Given the description of an element on the screen output the (x, y) to click on. 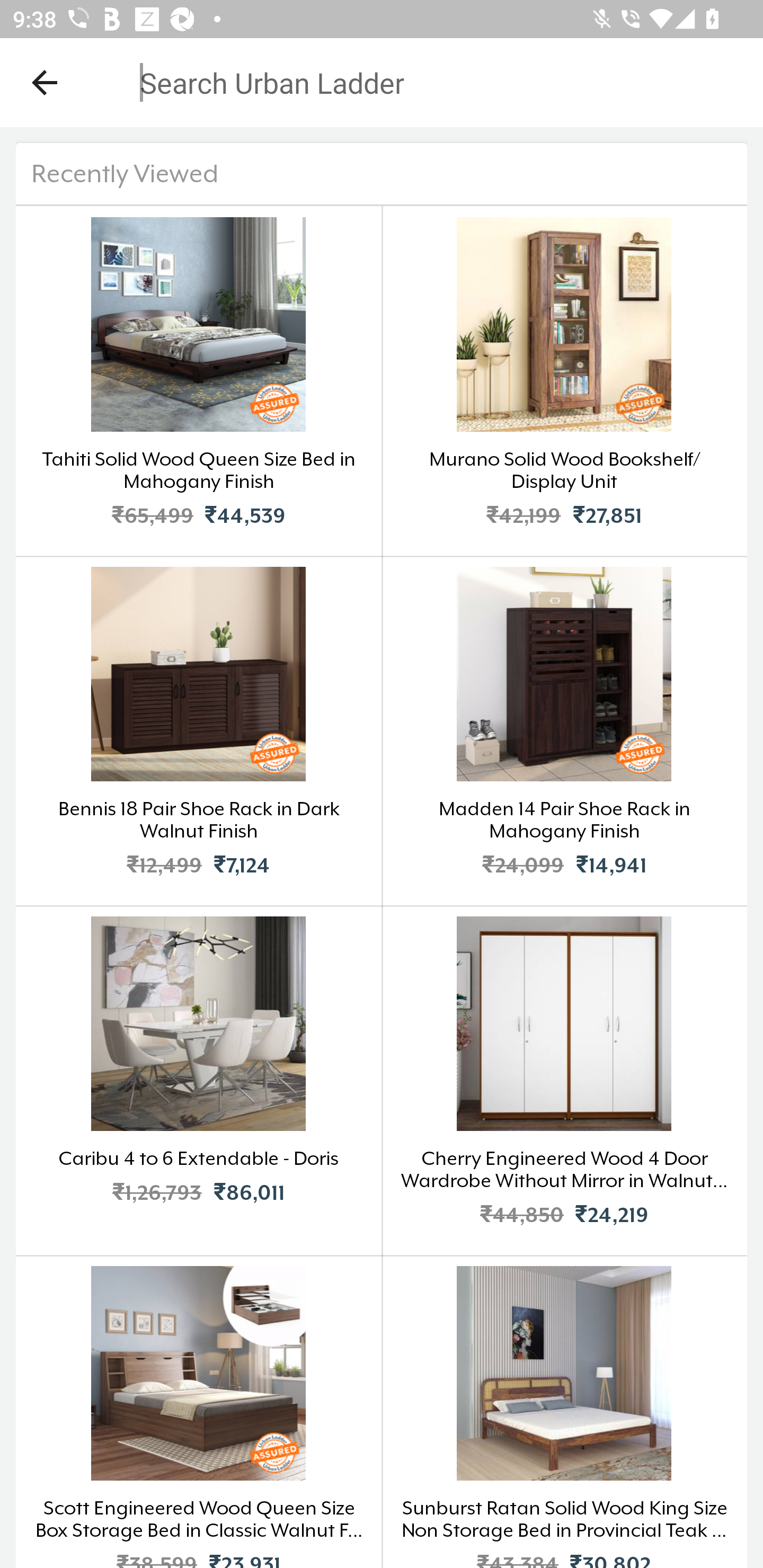
Collapse (44, 82)
Search Urban Ladder (368, 82)
Search Urban Ladder  (381, 159)
Caribu 4 to 6 Extendable - Doris ₹1,26,793 ₹86,011 (198, 1079)
